Given the description of an element on the screen output the (x, y) to click on. 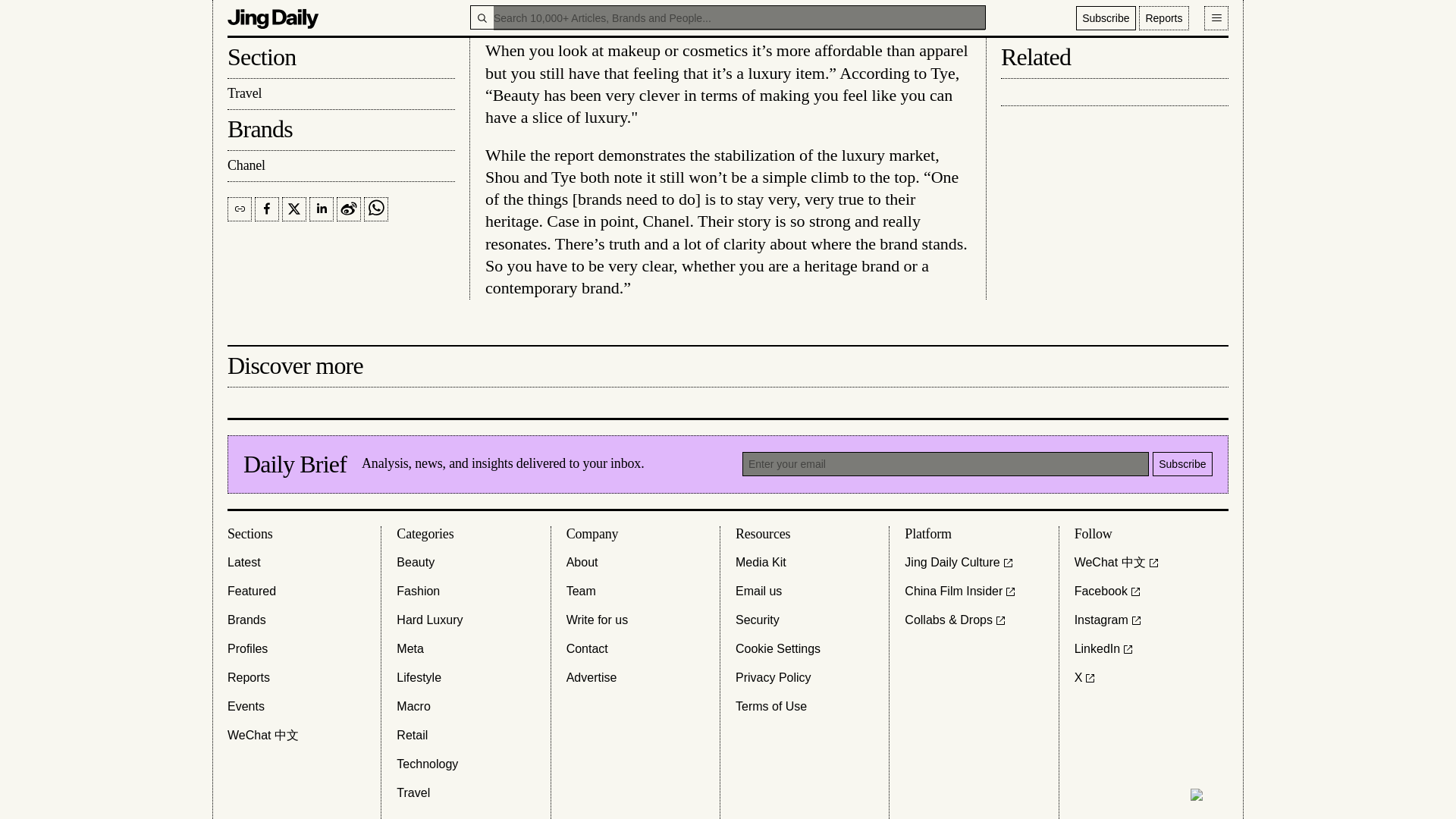
Fashion (417, 590)
Lifestyle (418, 677)
Latest (243, 562)
Macro (412, 706)
Featured (251, 590)
Retail (412, 735)
Reports (248, 677)
Events (245, 706)
Latest (243, 562)
Macro (412, 706)
Technology (427, 763)
Retail (412, 735)
Advertise (591, 677)
Featured (251, 590)
Reports (248, 677)
